Given the description of an element on the screen output the (x, y) to click on. 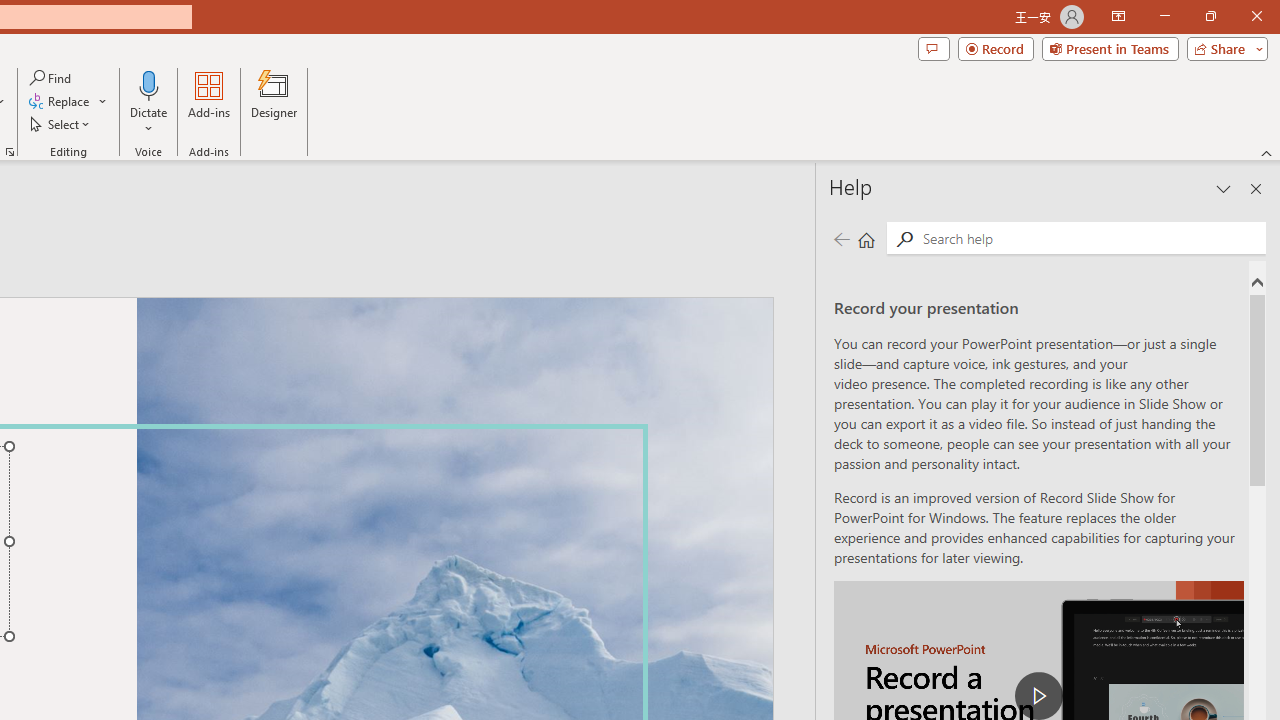
Previous page (841, 238)
